Given the description of an element on the screen output the (x, y) to click on. 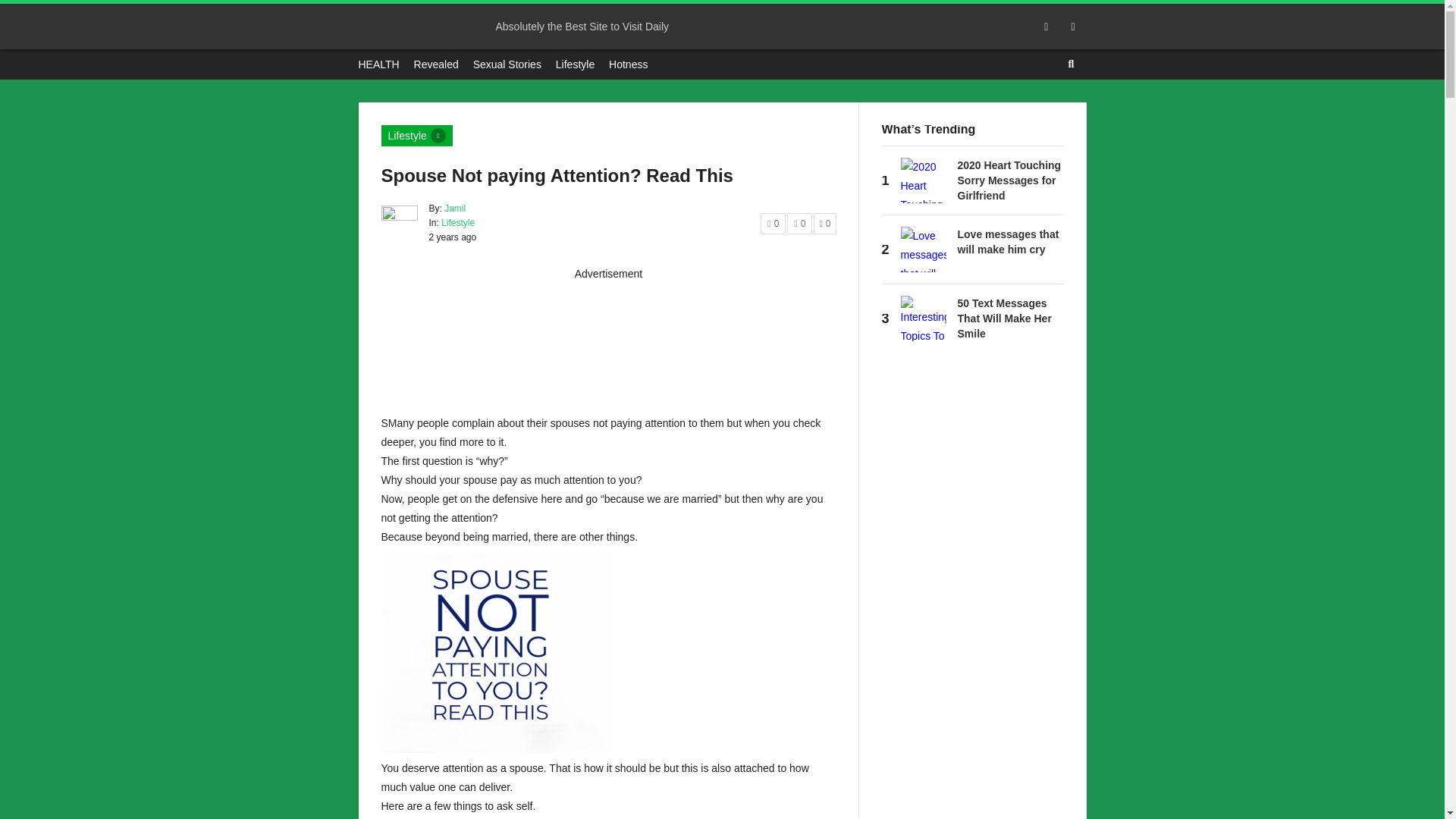
Lifestyle (415, 135)
0 (773, 223)
theDivest (414, 26)
Lifestyle (457, 222)
2020 Heart Touching Sorry Messages for Girlfriend (1008, 179)
Lifestyle (575, 64)
Jamil (454, 208)
Revealed (435, 64)
0 (799, 223)
0 (824, 223)
